Given the description of an element on the screen output the (x, y) to click on. 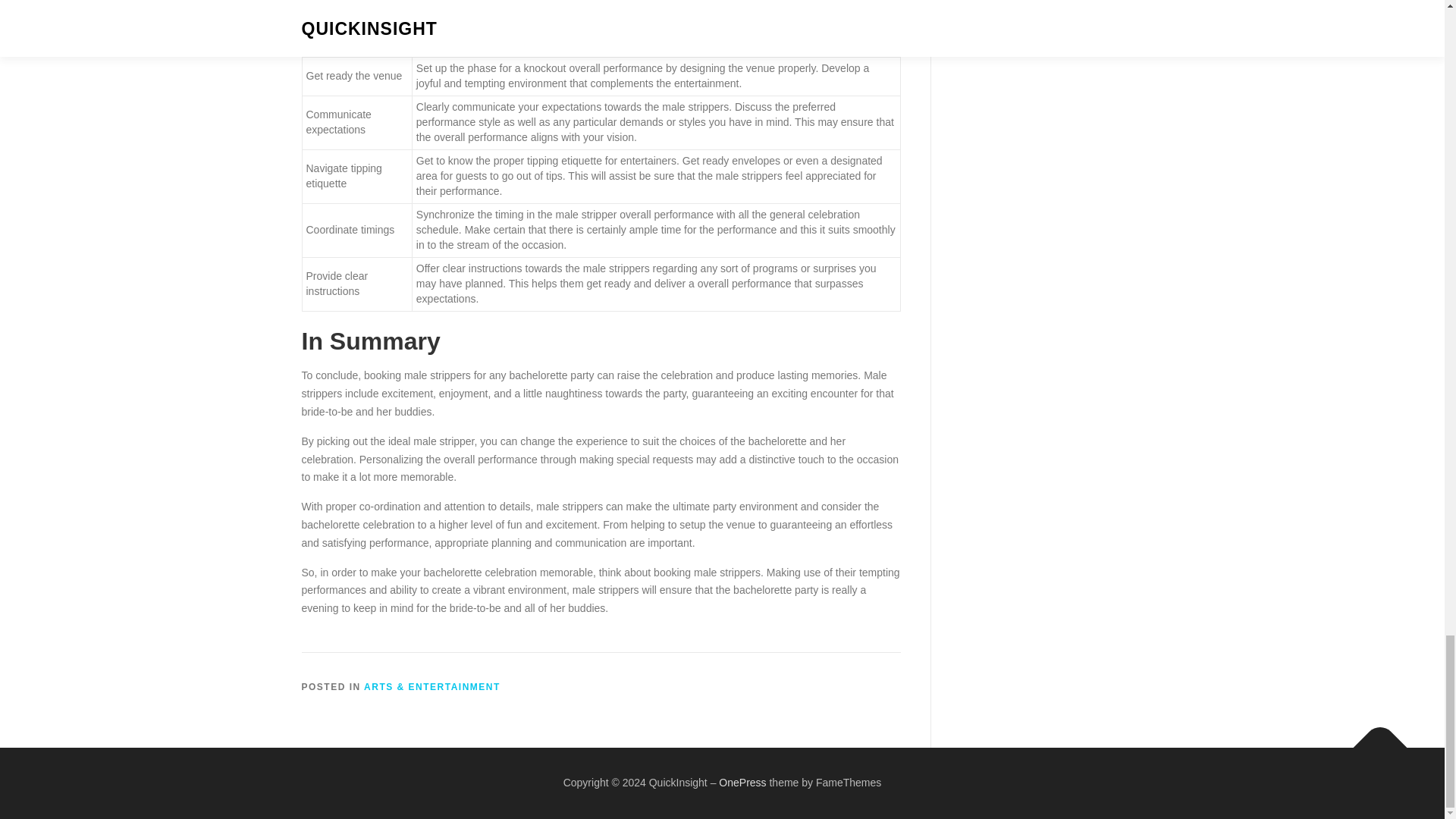
Back To Top (1372, 740)
